Given the description of an element on the screen output the (x, y) to click on. 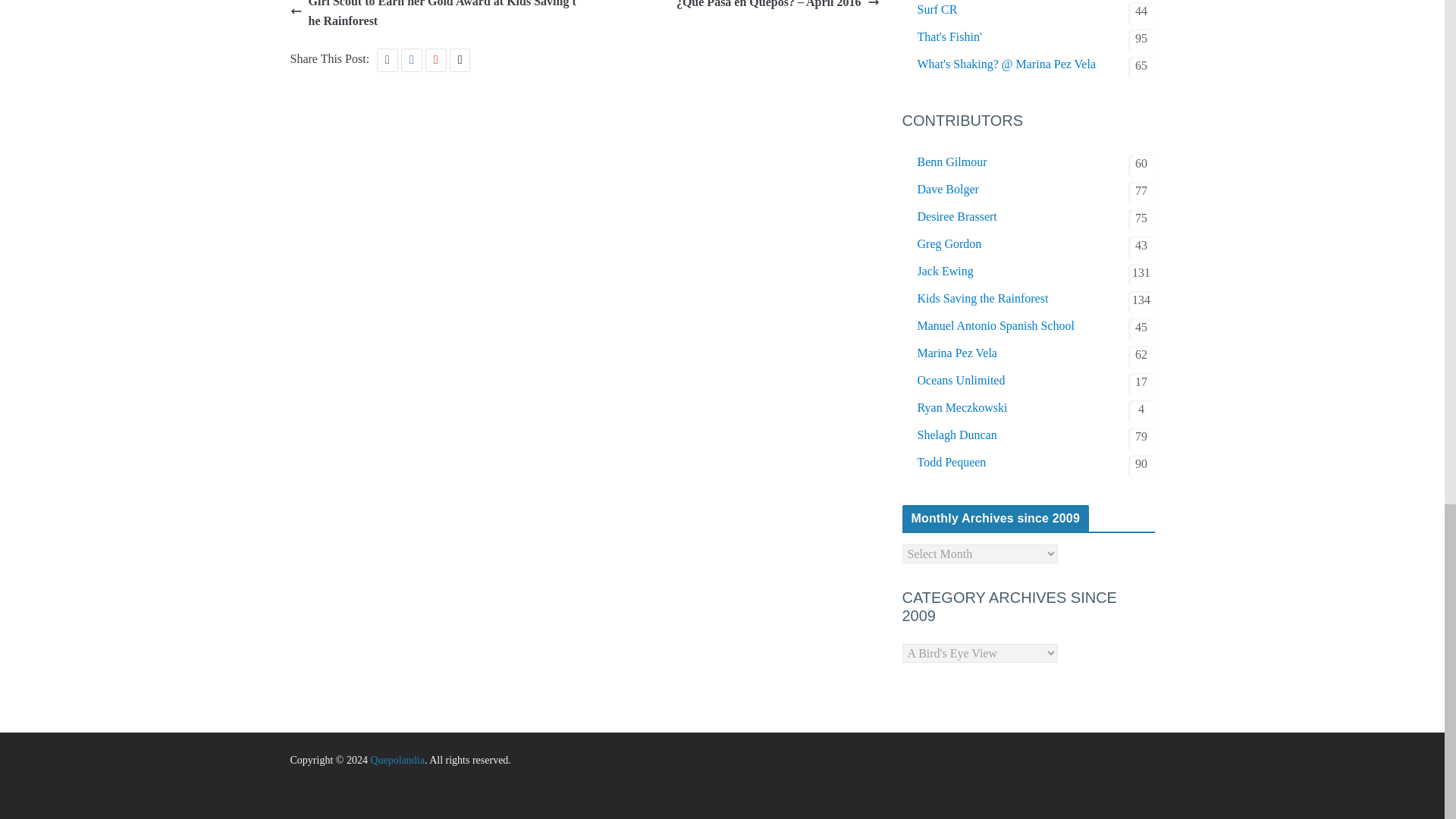
Desiree Brassert (957, 217)
That's Fishin' (949, 36)
Kids Saving the Rainforest (982, 298)
Marina Pez Vela (957, 352)
Jack Ewing (945, 271)
Dave Bolger (947, 189)
Surf CR (937, 9)
Benn Gilmour (952, 162)
Greg Gordon (949, 244)
